Given the description of an element on the screen output the (x, y) to click on. 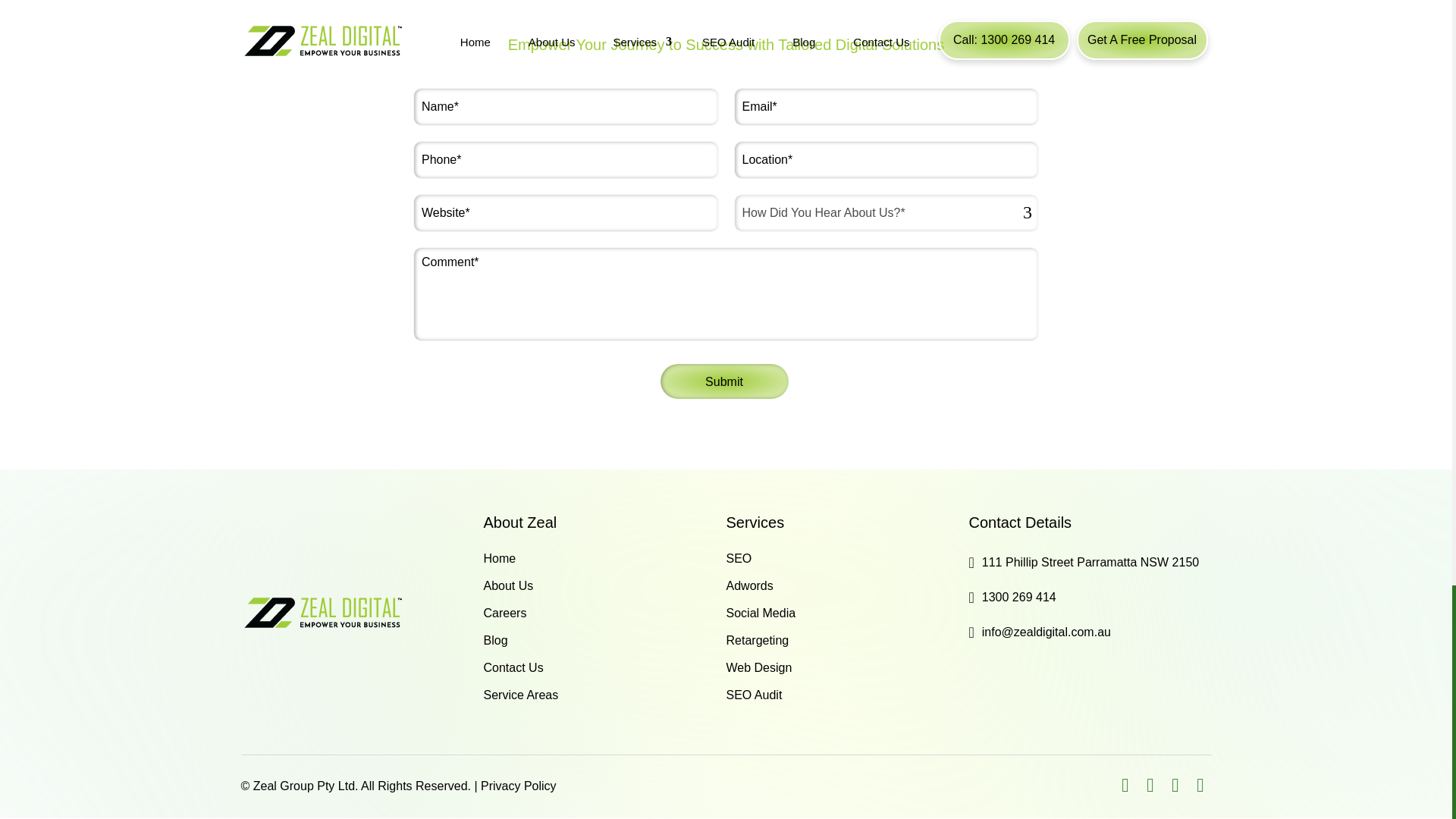
Submit (723, 381)
Zeal-Logo-tm (321, 612)
